Given the description of an element on the screen output the (x, y) to click on. 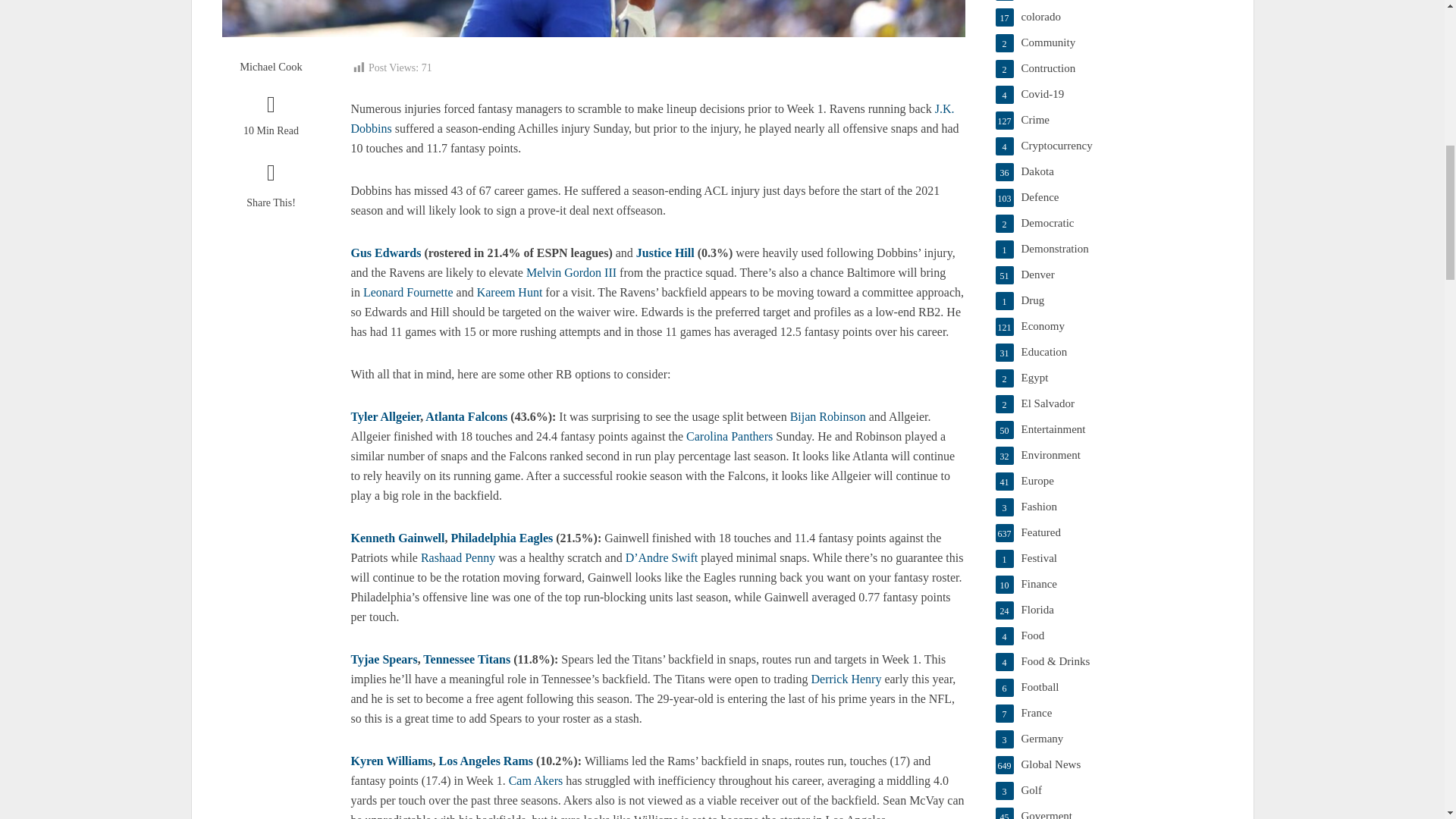
Featured posts (1108, 532)
